Given the description of an element on the screen output the (x, y) to click on. 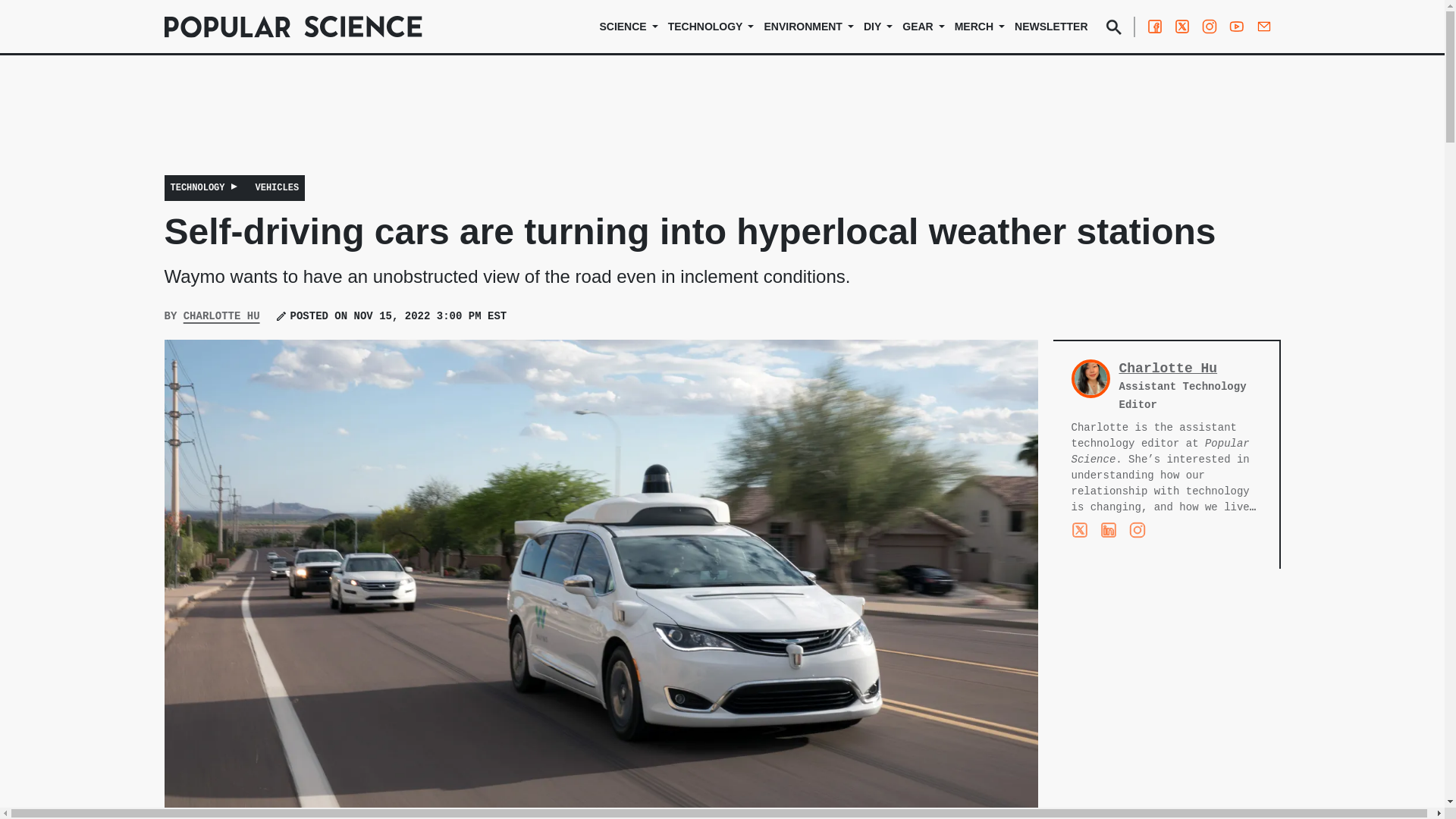
3rd party ad content (1165, 693)
3rd party ad content (721, 125)
